Given the description of an element on the screen output the (x, y) to click on. 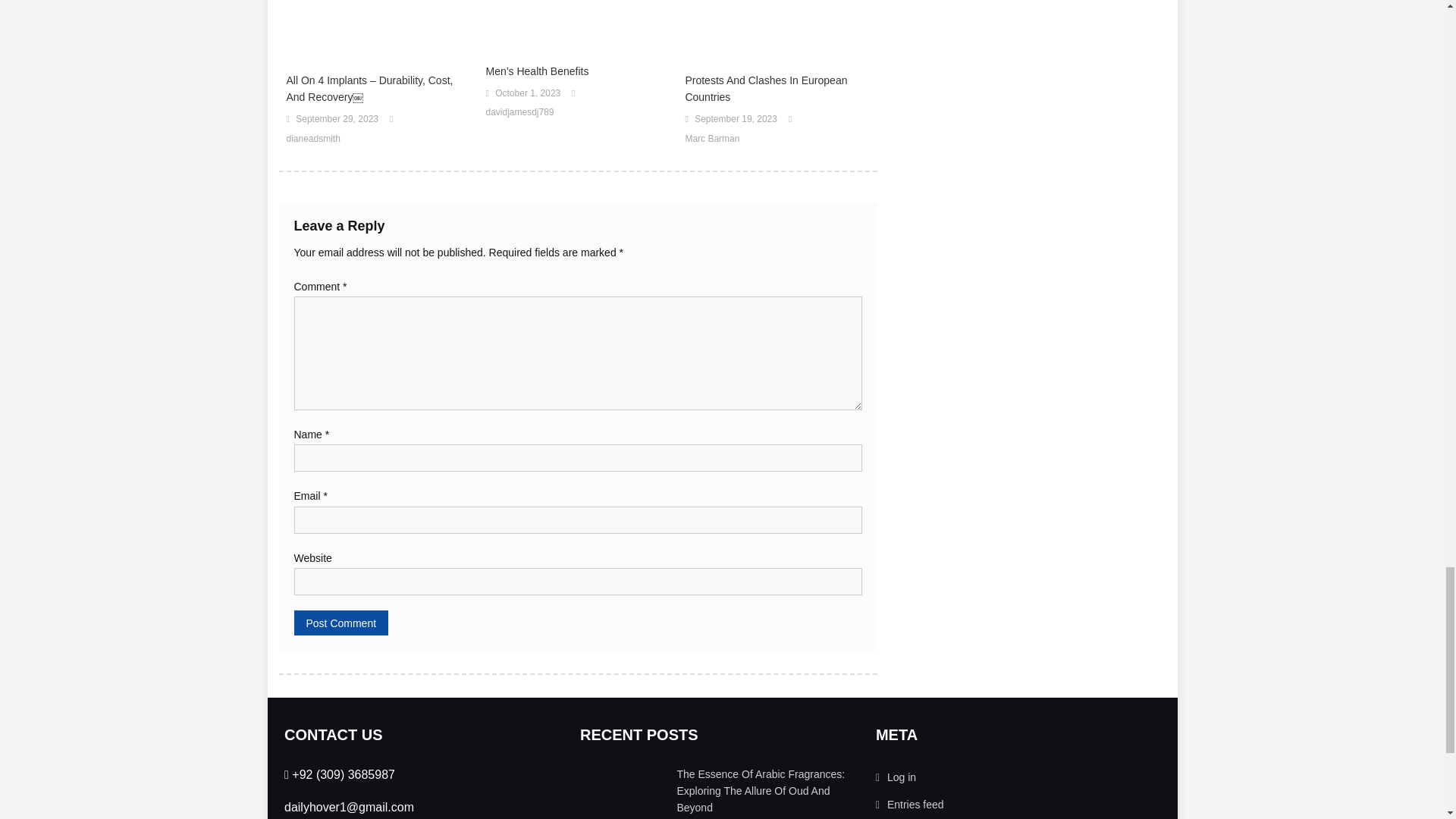
dianeadsmith (313, 139)
September 29, 2023 (336, 119)
Post Comment (341, 622)
